Given the description of an element on the screen output the (x, y) to click on. 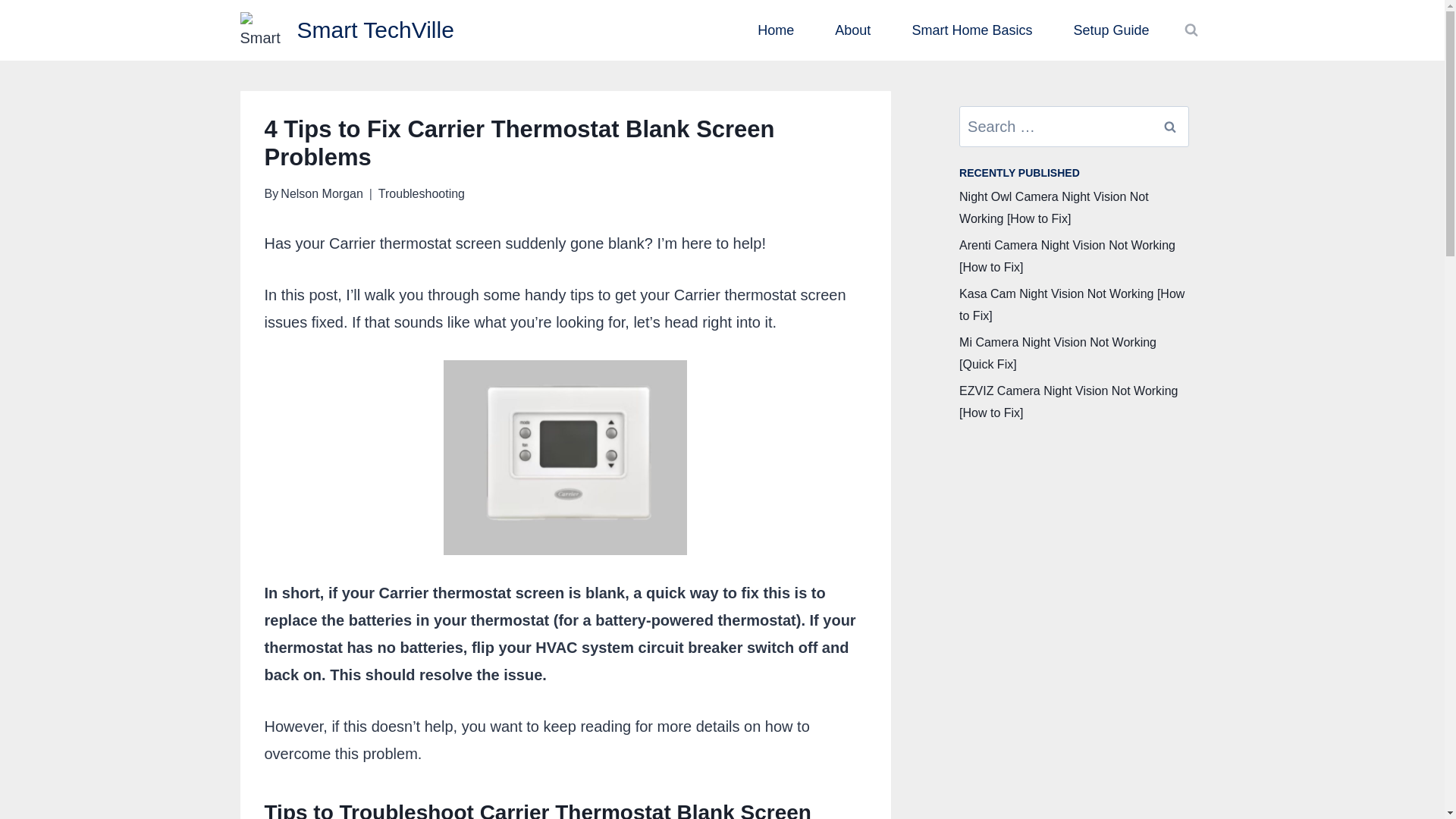
Smart TechVille (346, 30)
Setup Guide (1110, 29)
Troubleshooting (421, 193)
Nelson Morgan (321, 193)
Search (1170, 126)
Search (1170, 126)
Search (1170, 126)
Smart Home Basics (971, 29)
Home (774, 29)
About (852, 29)
